Given the description of an element on the screen output the (x, y) to click on. 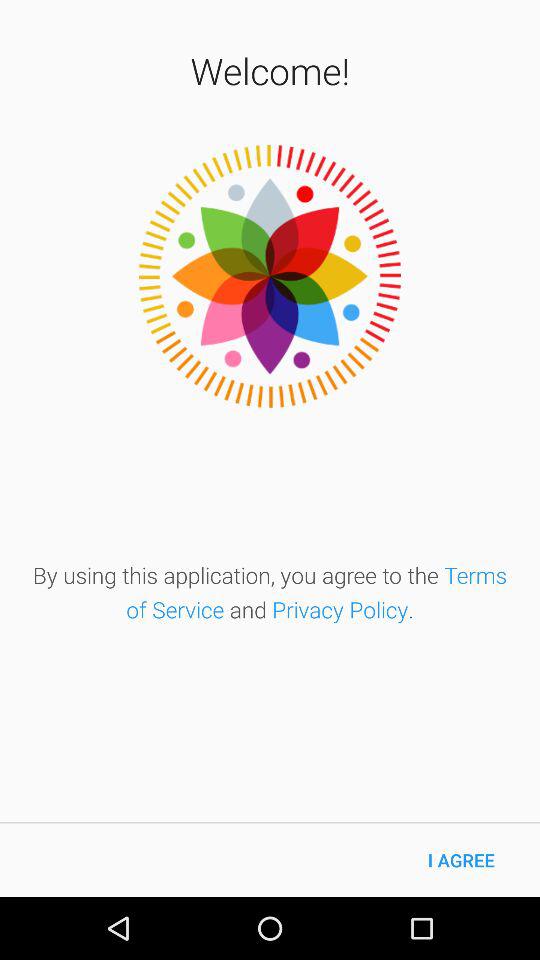
turn on icon at the bottom right corner (461, 859)
